Given the description of an element on the screen output the (x, y) to click on. 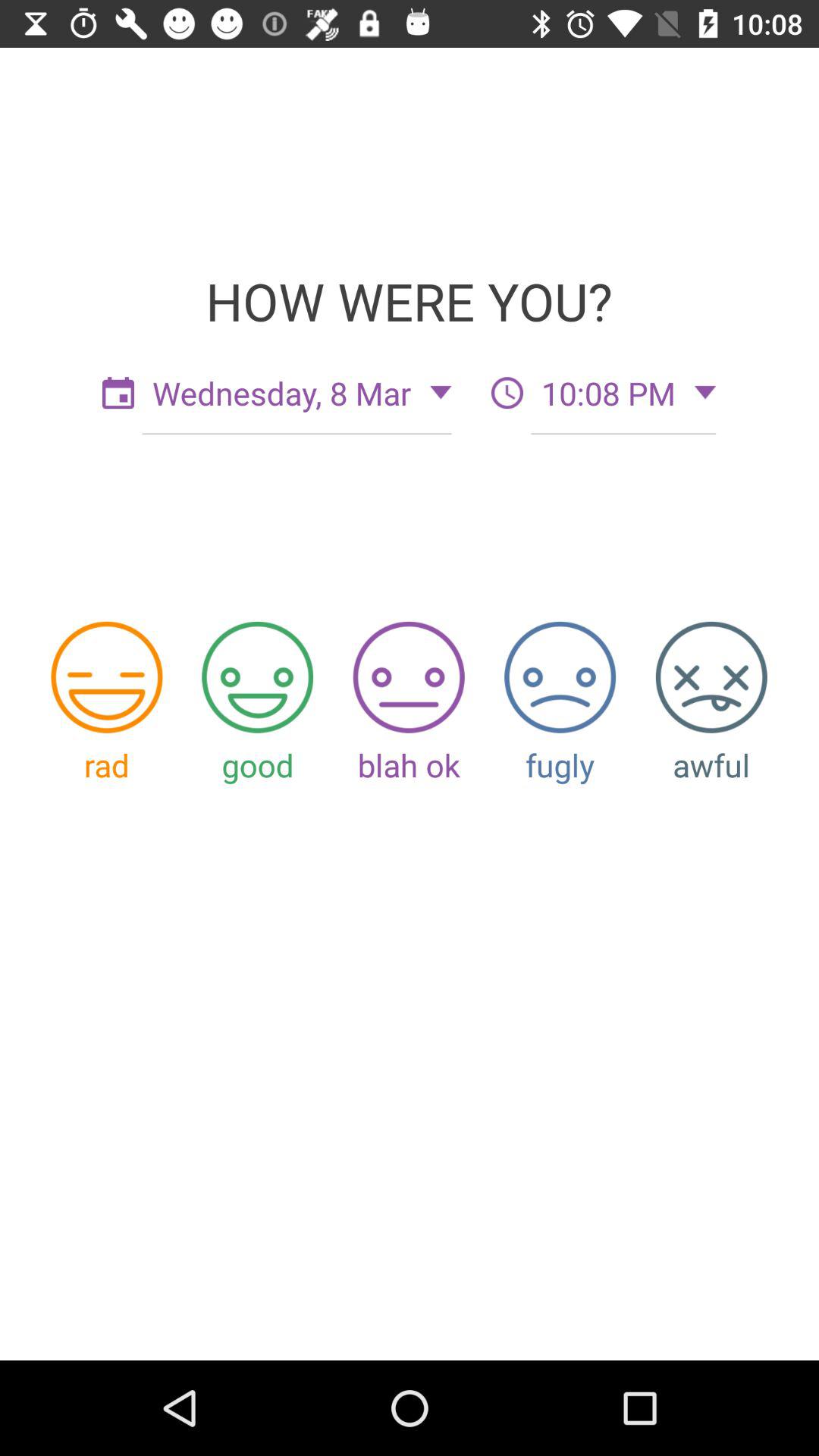
calendar box (118, 392)
